Given the description of an element on the screen output the (x, y) to click on. 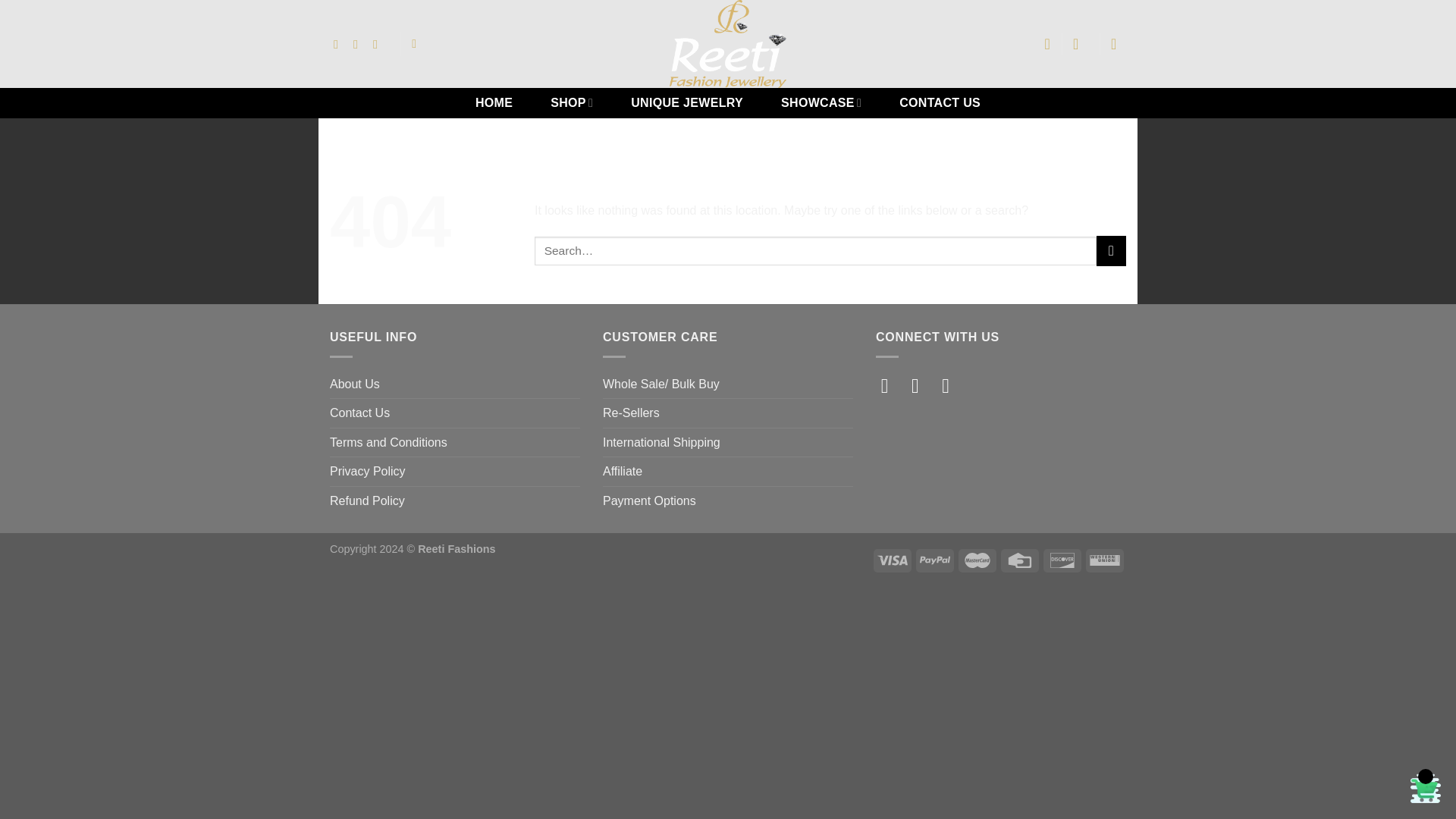
HOME (493, 102)
Follow on Instagram (921, 385)
Follow on Facebook (890, 385)
UNIQUE JEWELRY (686, 102)
SHOWCASE (820, 102)
Follow on Twitter (952, 385)
SHOP (571, 102)
